Given the description of an element on the screen output the (x, y) to click on. 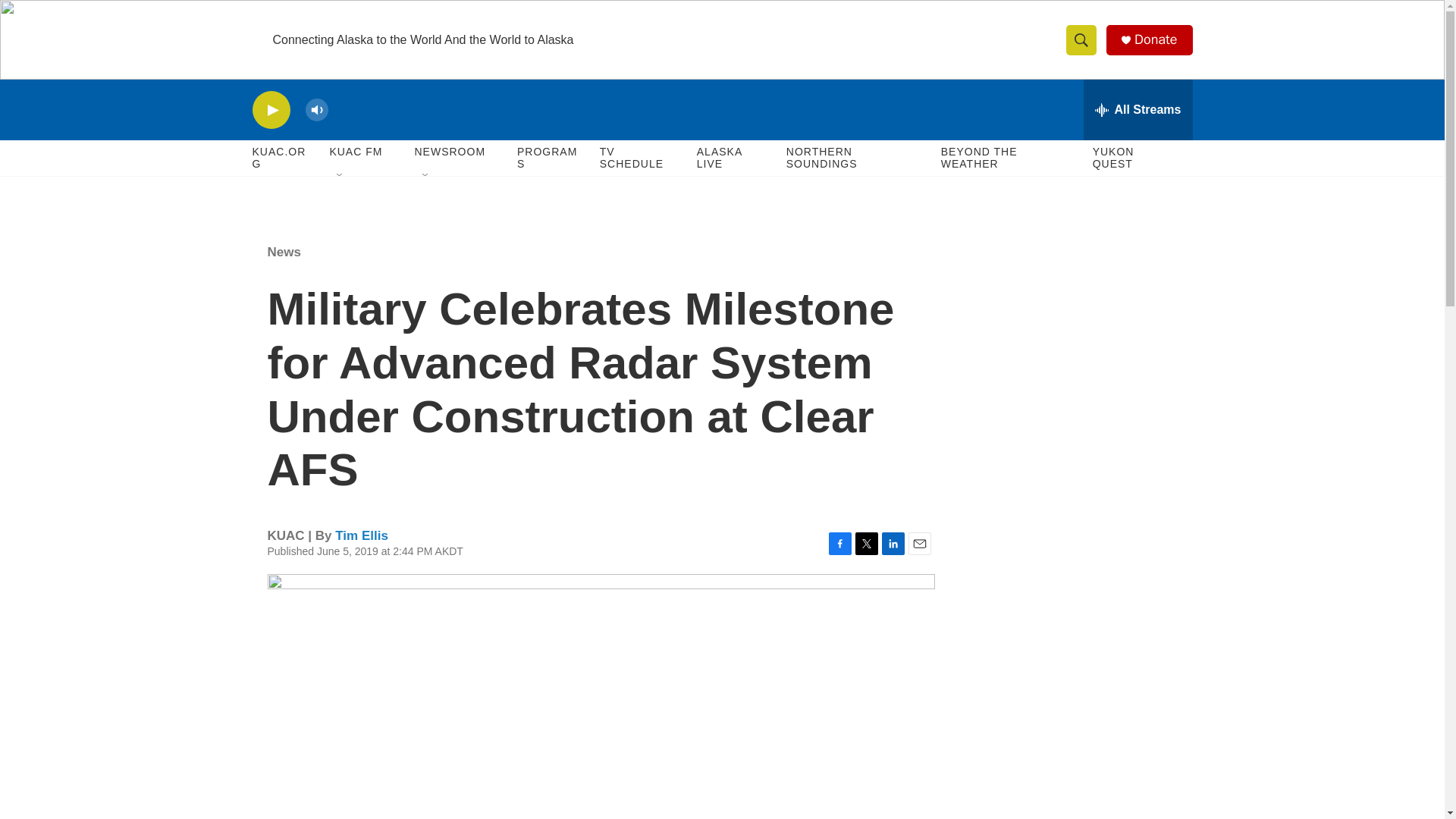
All Streams (1137, 109)
KUAC.ORG (282, 157)
Show Search (1080, 39)
Donate (1155, 39)
